Given the description of an element on the screen output the (x, y) to click on. 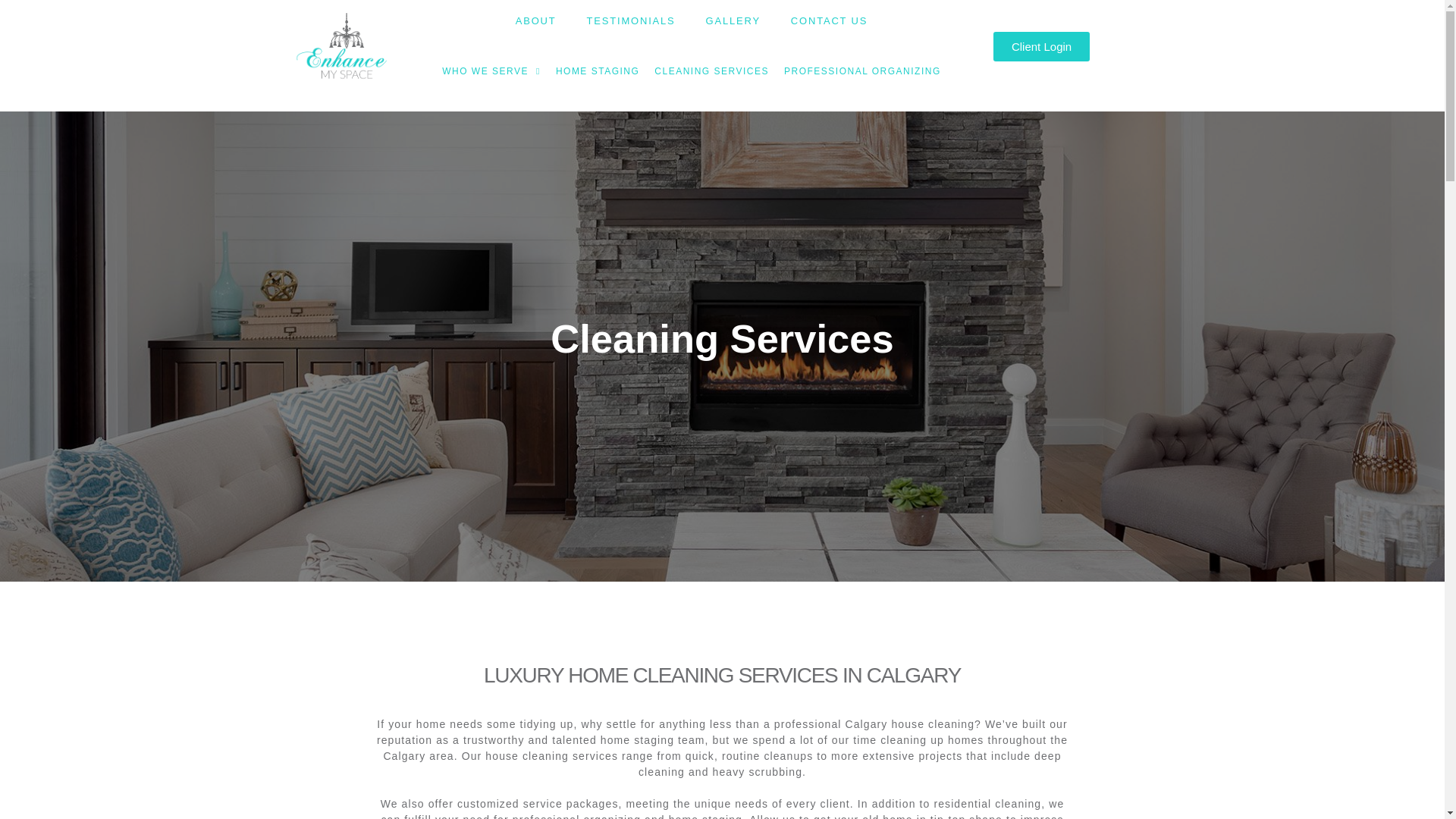
WHO WE SERVE (490, 71)
Client Login (1040, 46)
CLEANING SERVICES (711, 71)
GALLERY (733, 21)
ABOUT (536, 21)
TESTIMONIALS (631, 21)
HOME STAGING (597, 71)
PROFESSIONAL ORGANIZING (862, 71)
CONTACT US (829, 21)
